Given the description of an element on the screen output the (x, y) to click on. 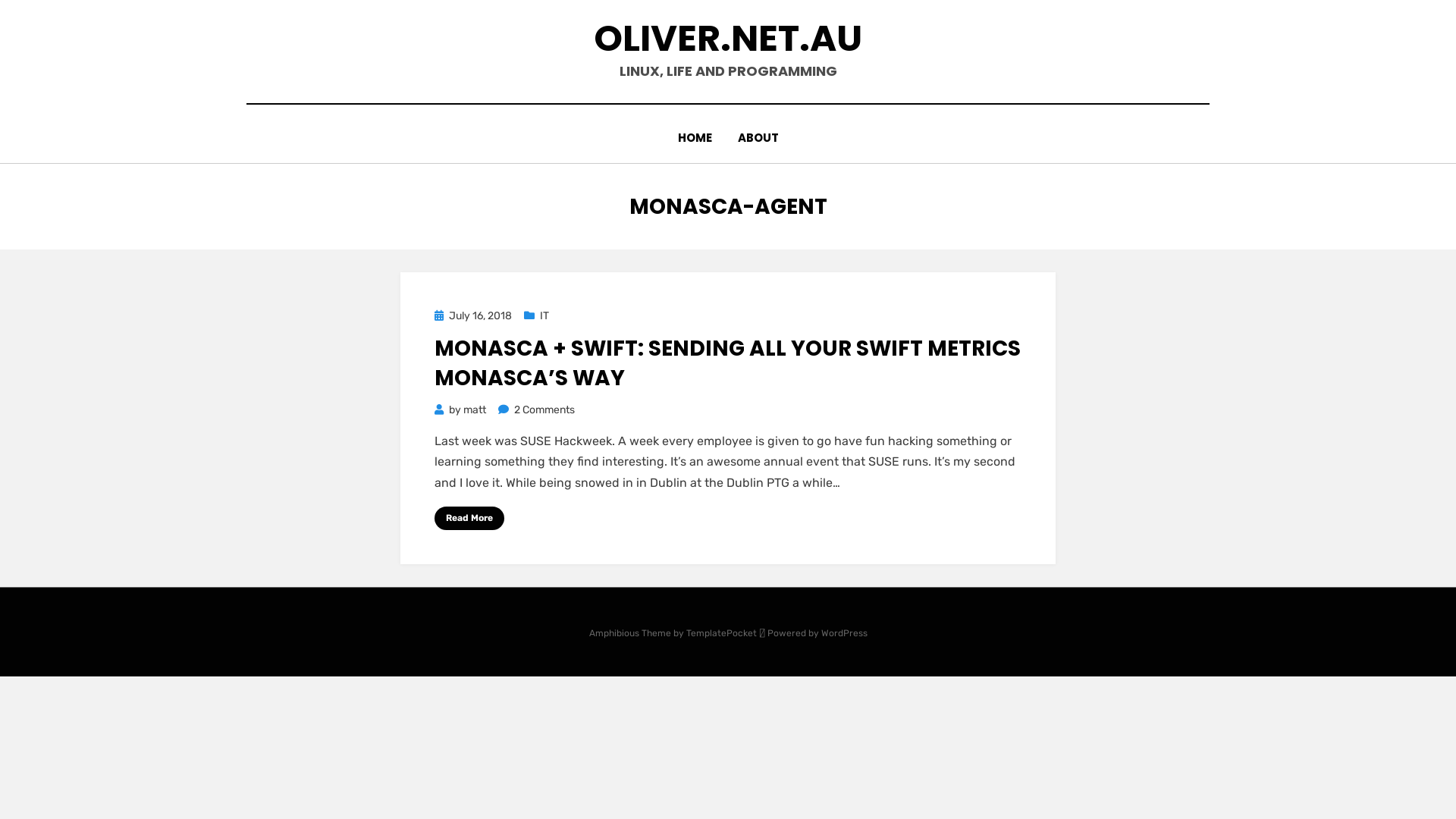
TemplatePocket Element type: text (720, 632)
Read More Element type: text (469, 518)
WordPress Element type: text (843, 632)
ABOUT Element type: text (757, 137)
HOME Element type: text (694, 137)
OLIVER.NET.AU Element type: text (727, 37)
July 16, 2018 Element type: text (472, 315)
matt Element type: text (474, 409)
IT Element type: text (536, 315)
